Given the description of an element on the screen output the (x, y) to click on. 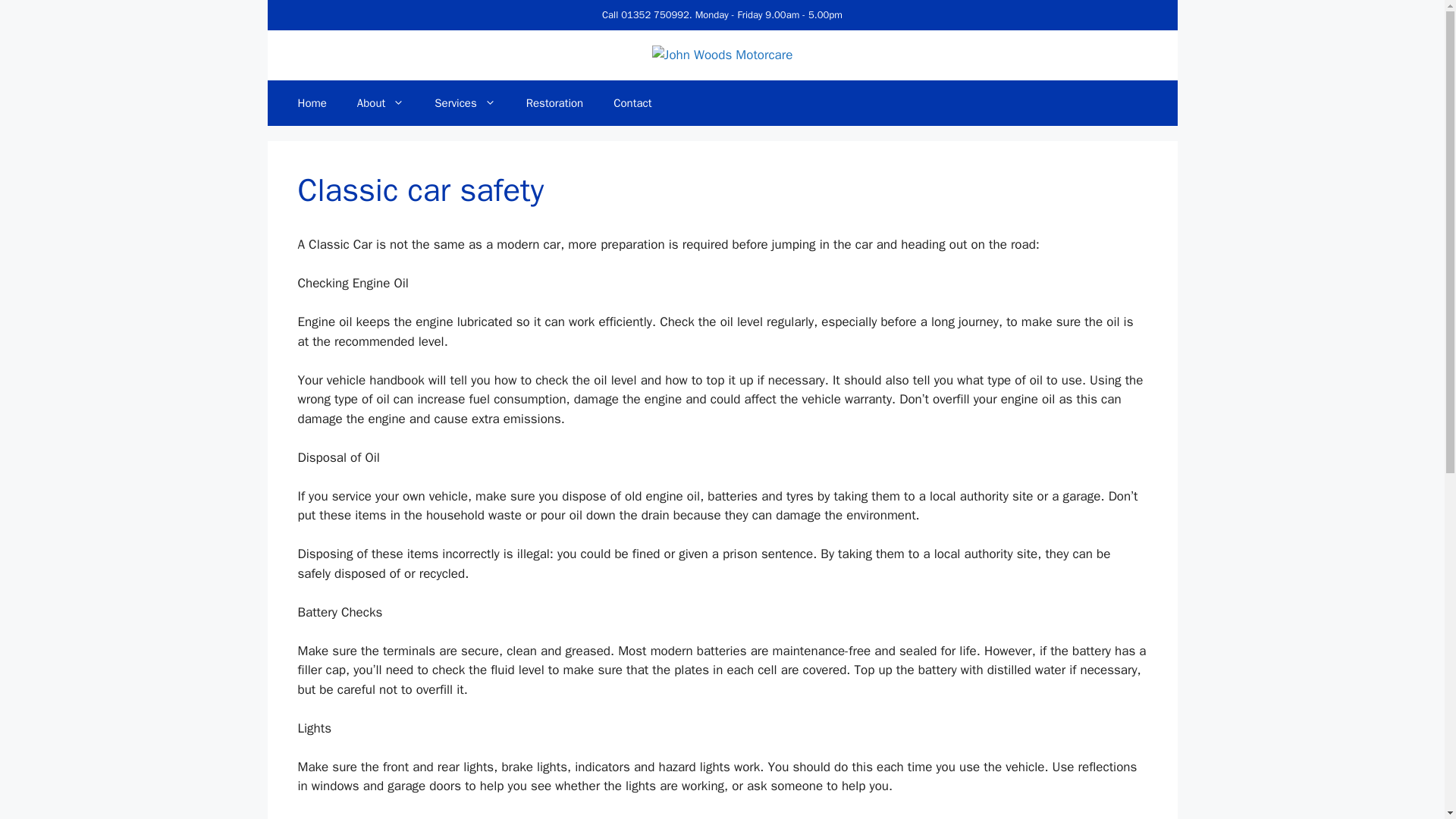
About (380, 103)
Home (311, 103)
Contact (632, 103)
Services (465, 103)
Restoration (554, 103)
